Given the description of an element on the screen output the (x, y) to click on. 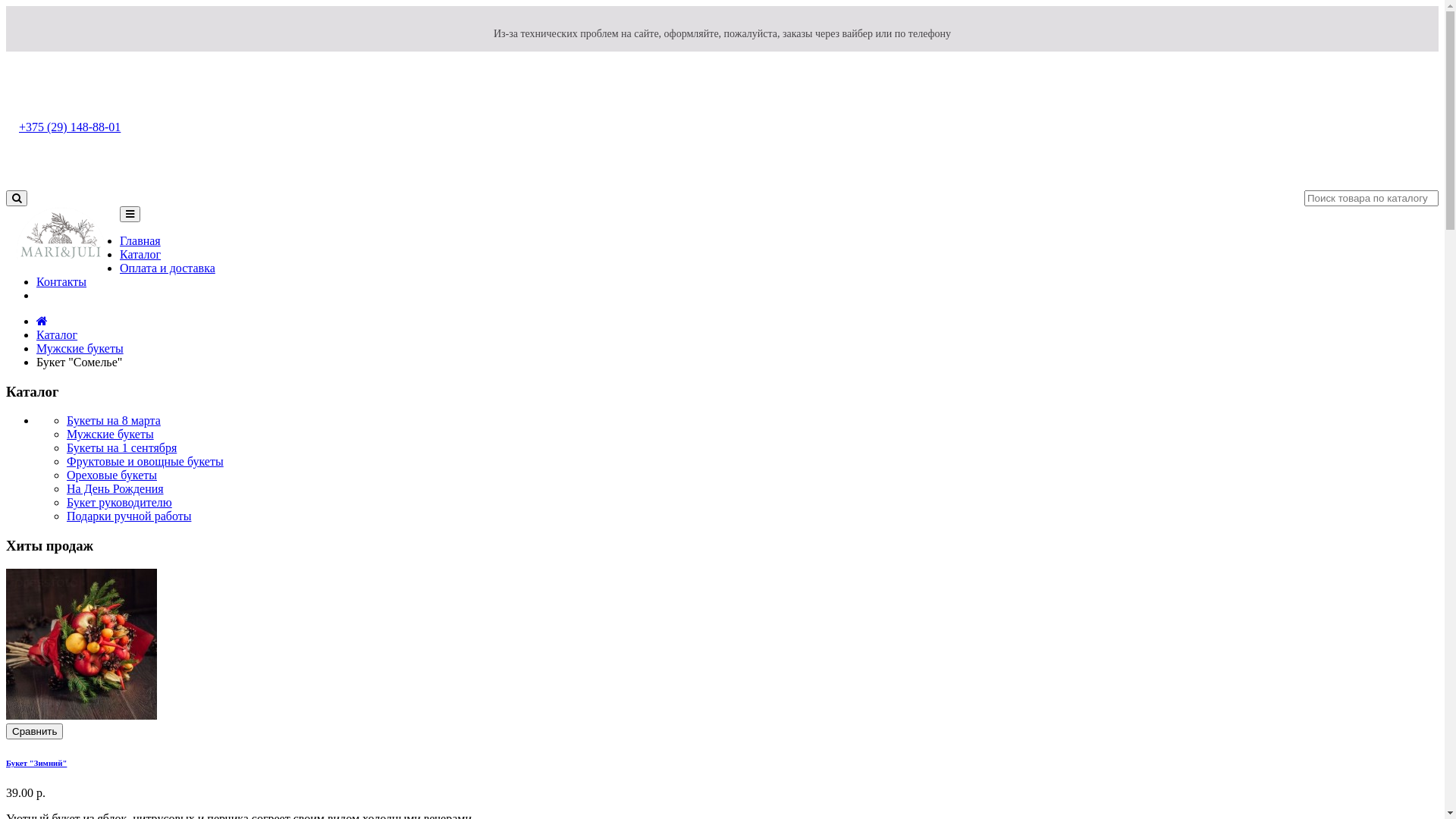
+375 (29) 148-88-01 Element type: text (69, 126)
